Given the description of an element on the screen output the (x, y) to click on. 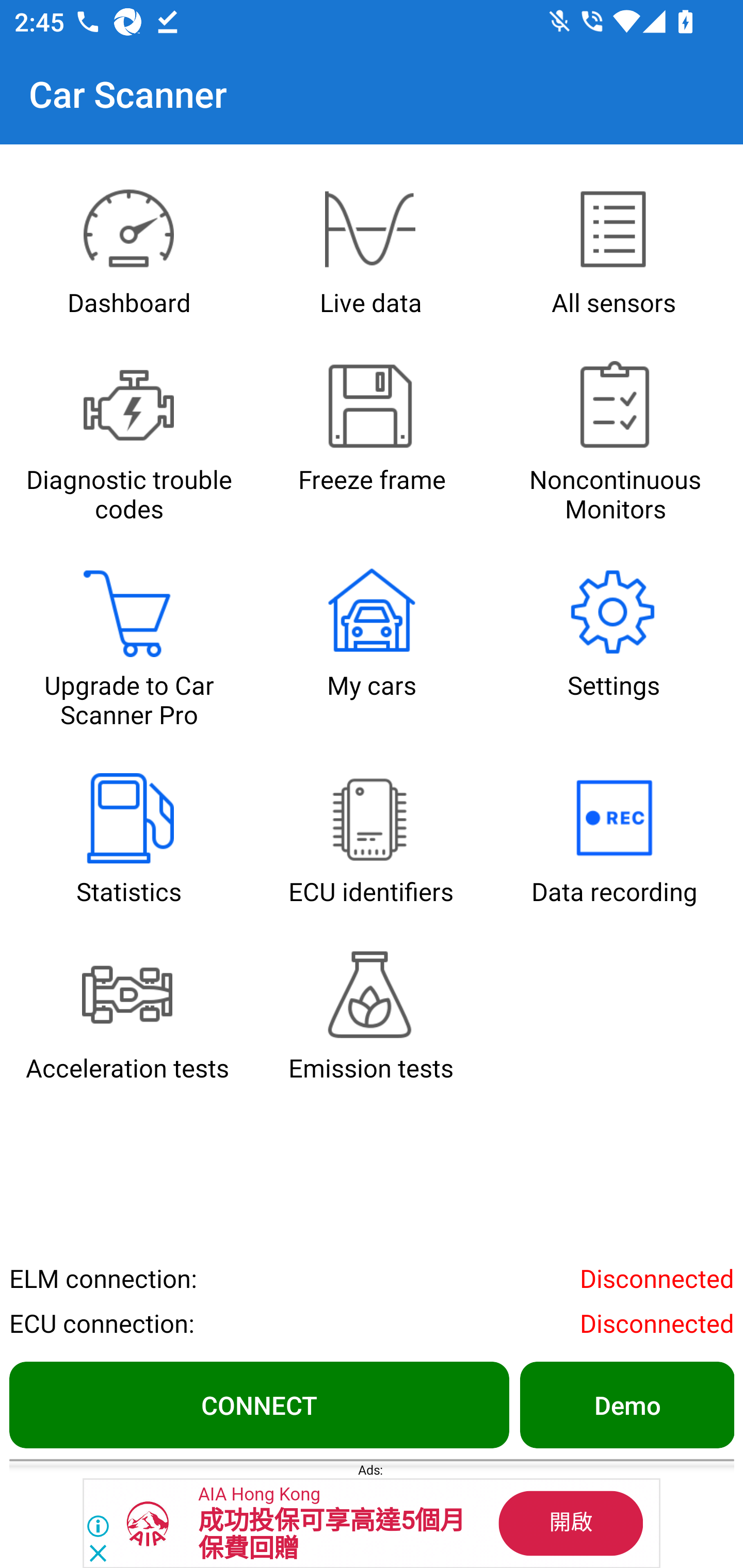
CONNECT (258, 1404)
Demo (627, 1404)
